Given the description of an element on the screen output the (x, y) to click on. 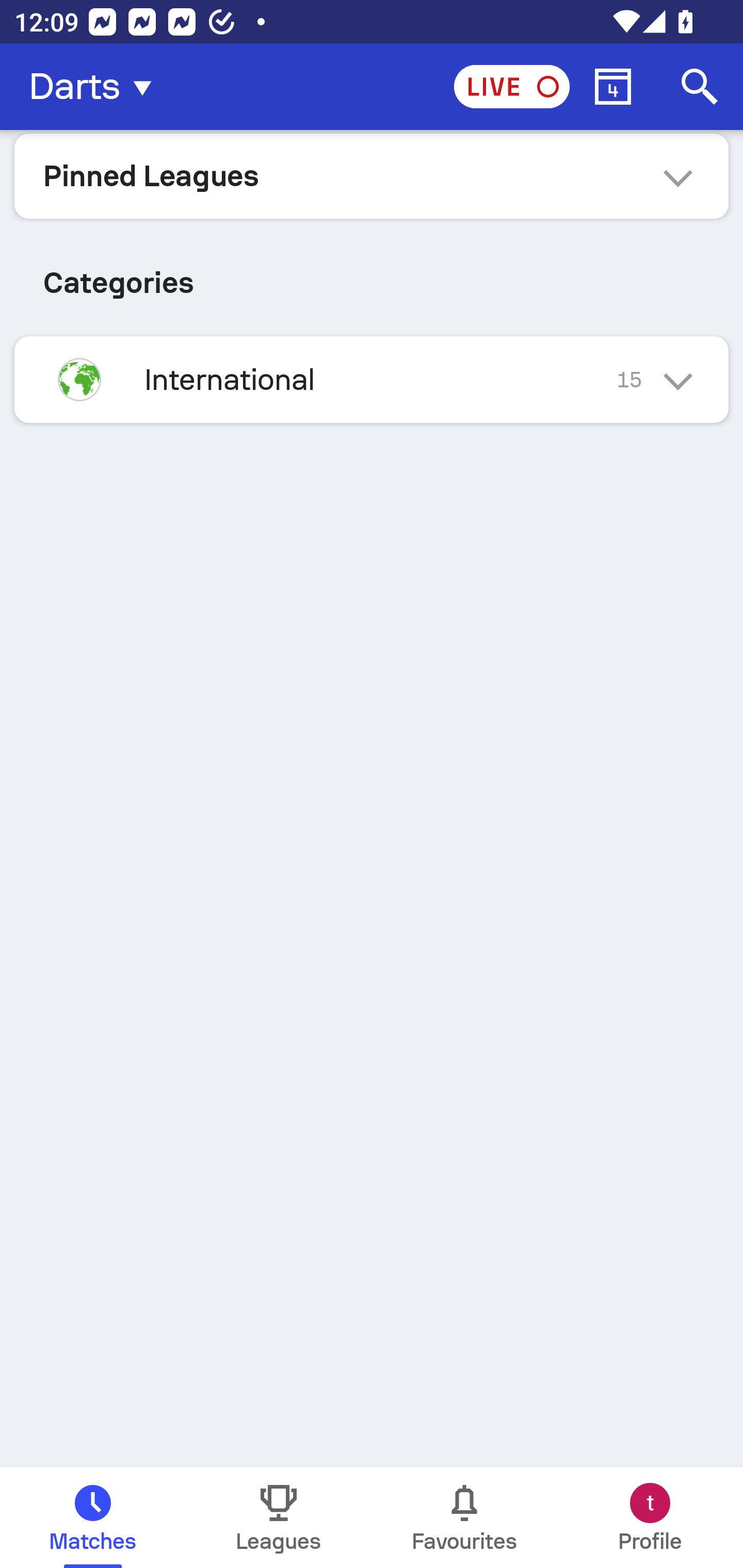
Darts (96, 86)
Calendar (612, 86)
Search (699, 86)
Pinned Leagues (371, 175)
Categories (371, 275)
International 15 (371, 379)
Leagues (278, 1517)
Favourites (464, 1517)
Profile (650, 1517)
